Given the description of an element on the screen output the (x, y) to click on. 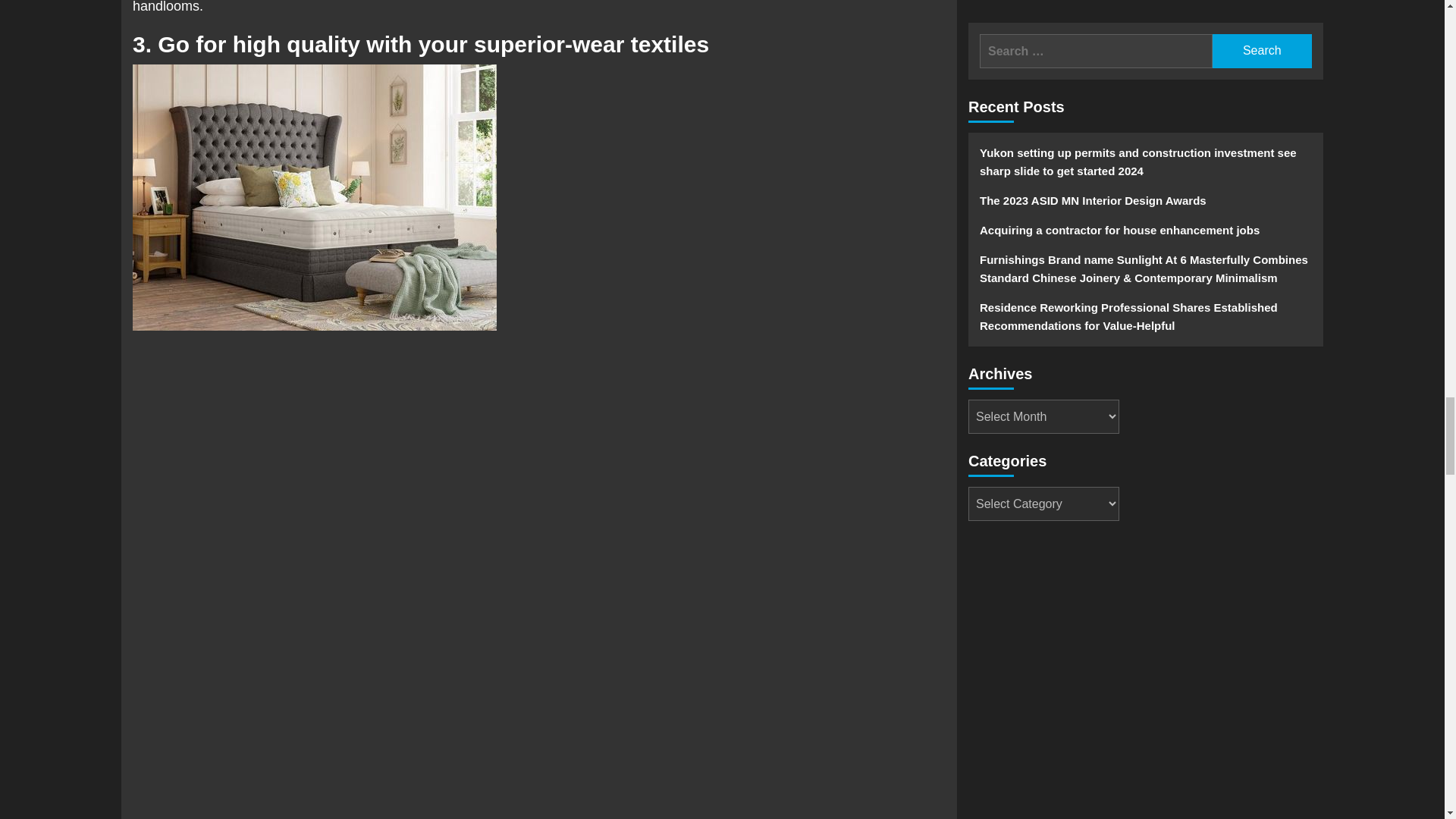
Sustainable home design (314, 197)
